Given the description of an element on the screen output the (x, y) to click on. 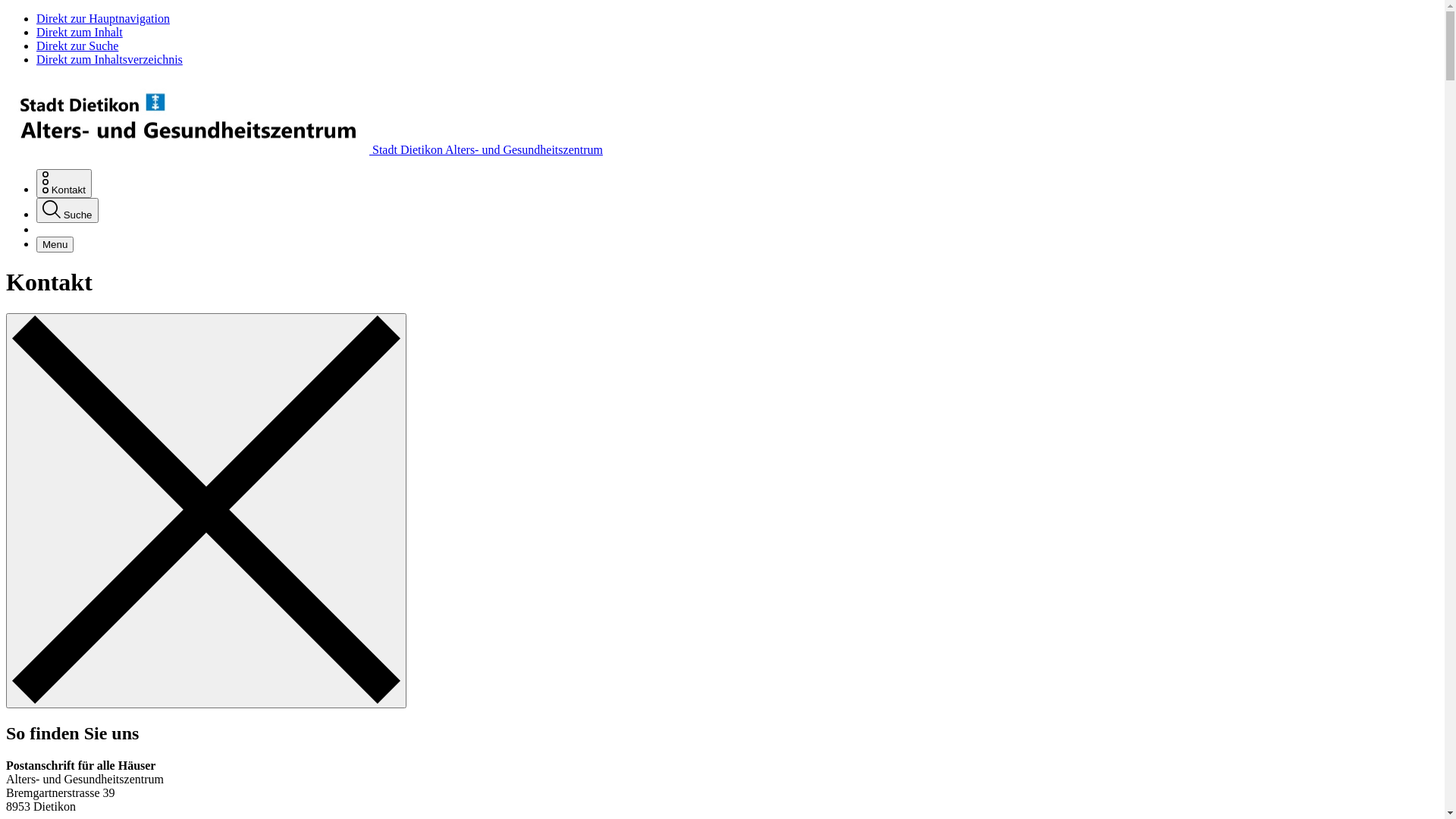
Kontakt Element type: text (63, 183)
Stadt Dietikon Alters- und Gesundheitszentrum Element type: text (304, 149)
Menu Element type: text (54, 244)
Direkt zur Suche Element type: text (77, 45)
Direkt zur Hauptnavigation Element type: text (102, 18)
Direkt zum Inhalt Element type: text (79, 31)
Direkt zum Inhaltsverzeichnis Element type: text (109, 59)
Suche Element type: text (67, 209)
